Given the description of an element on the screen output the (x, y) to click on. 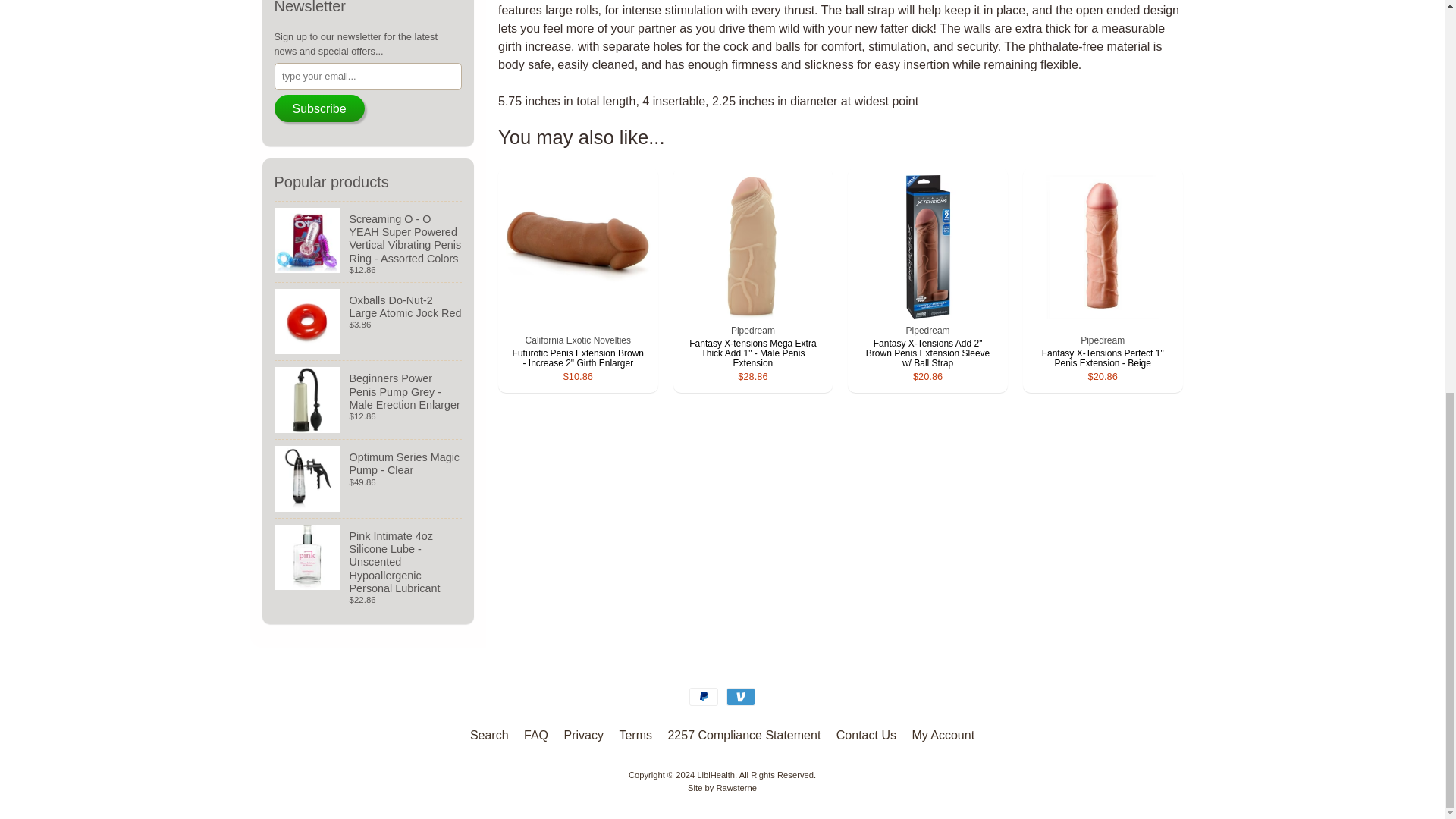
Shopify theme by Rawsterne (722, 787)
Beginners Power Penis Pump Grey - Male Erection Enlarger (369, 399)
Optimum Series Magic Pump - Clear (369, 478)
Oxballs Do-Nut-2 Large Atomic Jock Red (369, 321)
